Given the description of an element on the screen output the (x, y) to click on. 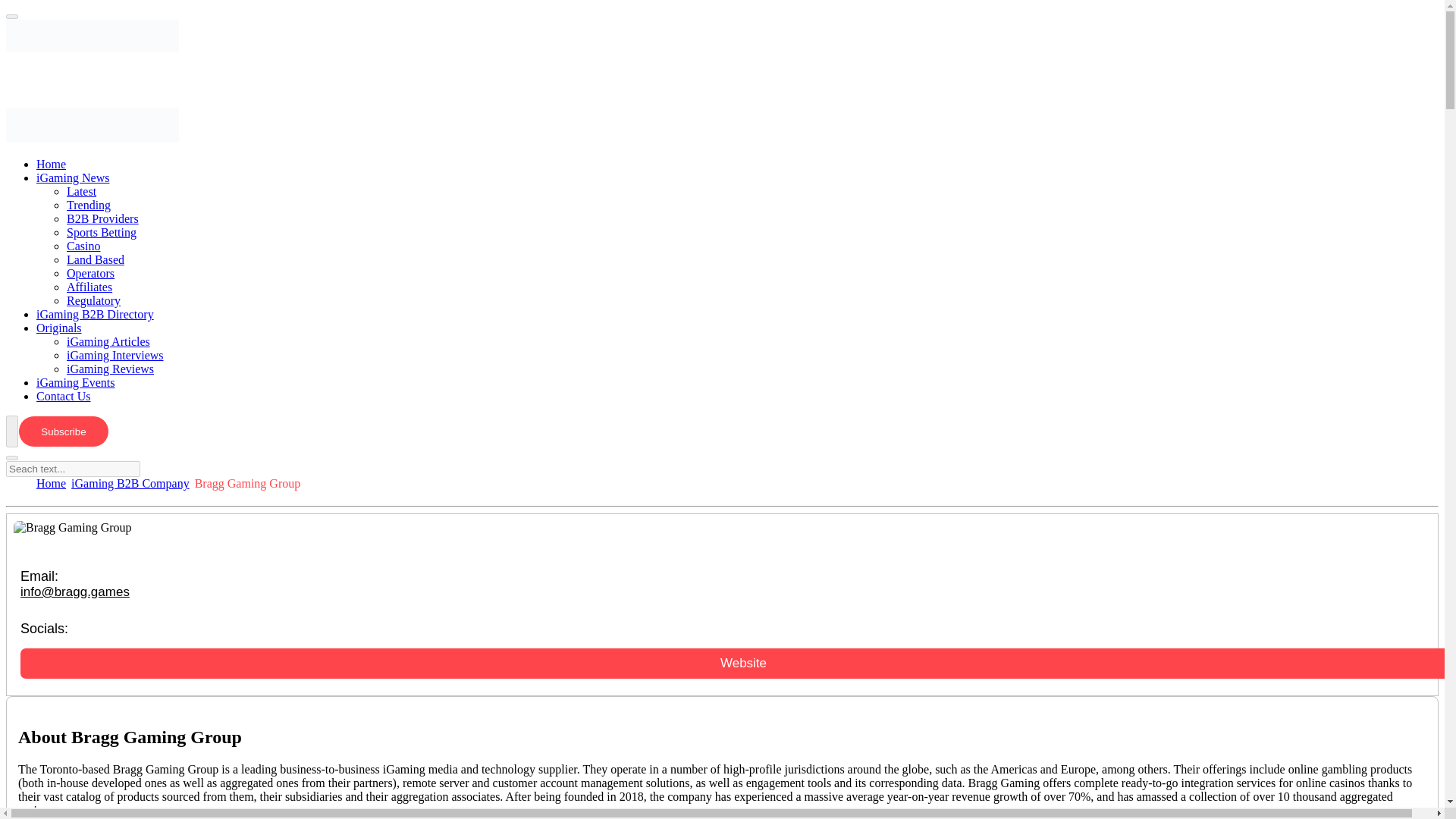
B2B Providers (117, 218)
Home (50, 482)
Contact Us (78, 396)
iGaming B2B Company (130, 482)
Land Based (110, 259)
Trending (103, 204)
iGaming B2B Directory (110, 314)
iGaming News (87, 177)
Contact Us (78, 396)
Casino (98, 245)
Home (66, 163)
Email (74, 591)
Operators (105, 273)
Sports Betting (116, 232)
Operators (105, 273)
